Given the description of an element on the screen output the (x, y) to click on. 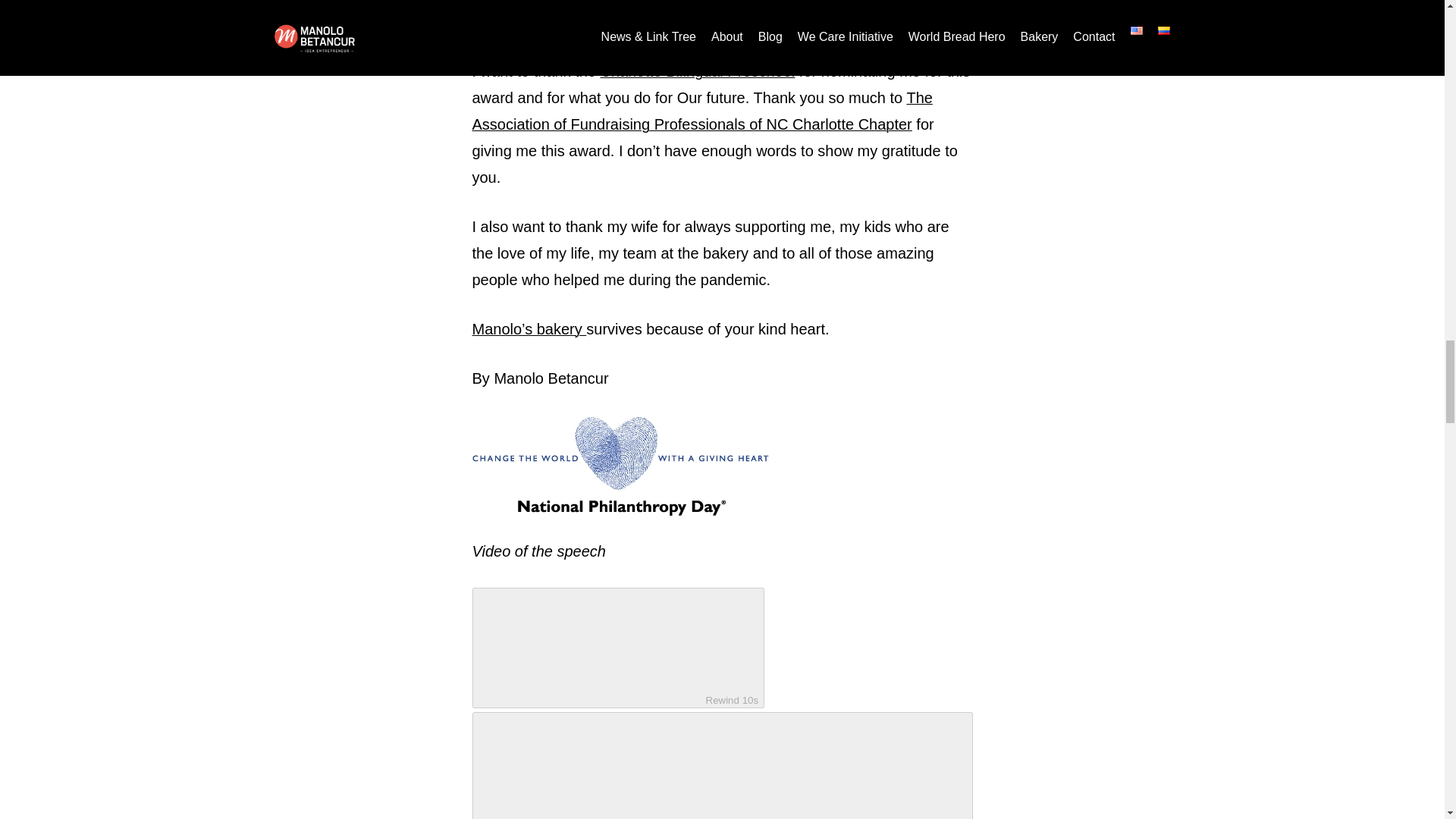
Charlotte Bilingual Preschool (696, 71)
